Given the description of an element on the screen output the (x, y) to click on. 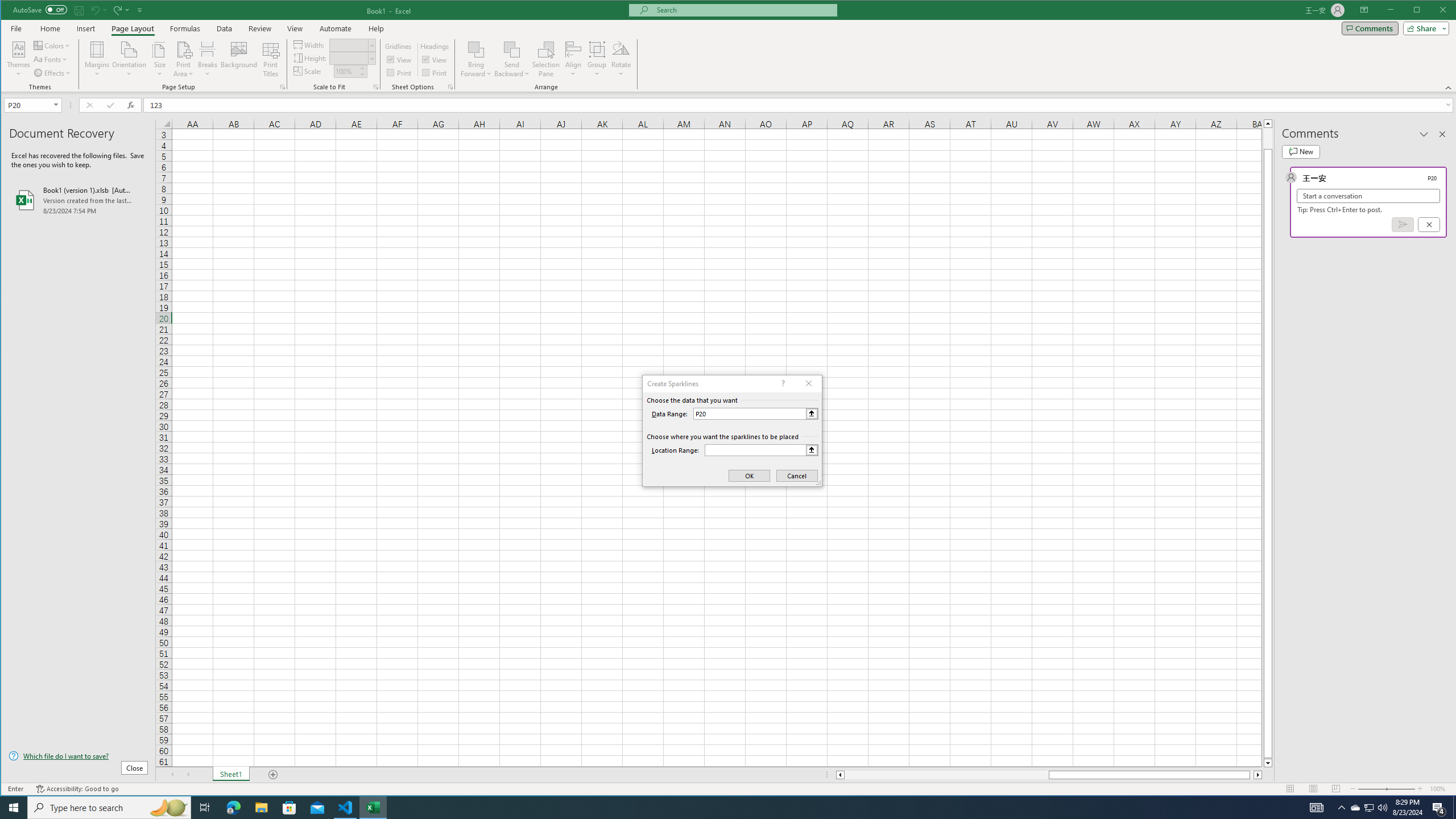
Less (361, 73)
Page left (946, 774)
Post comment (Ctrl + Enter) (1402, 224)
